Given the description of an element on the screen output the (x, y) to click on. 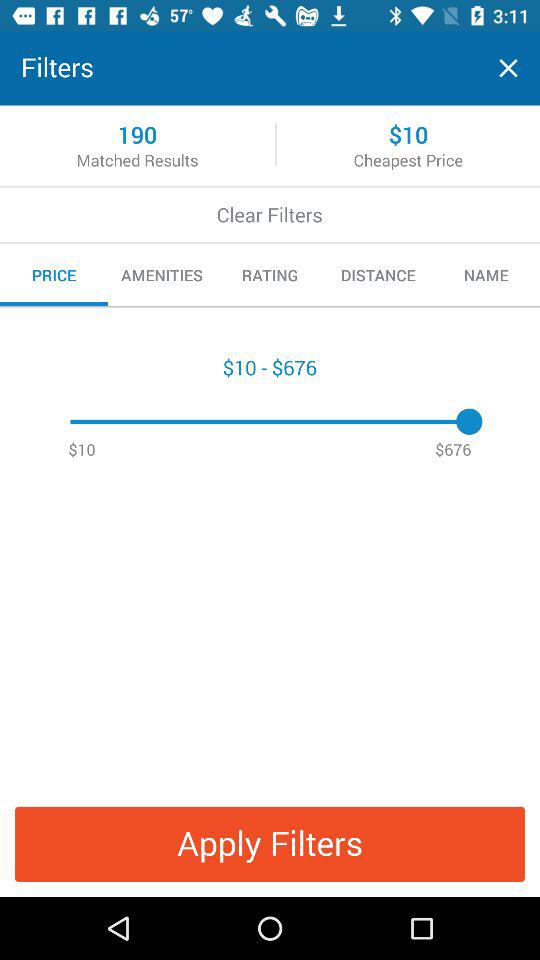
close filters menu (508, 67)
